Given the description of an element on the screen output the (x, y) to click on. 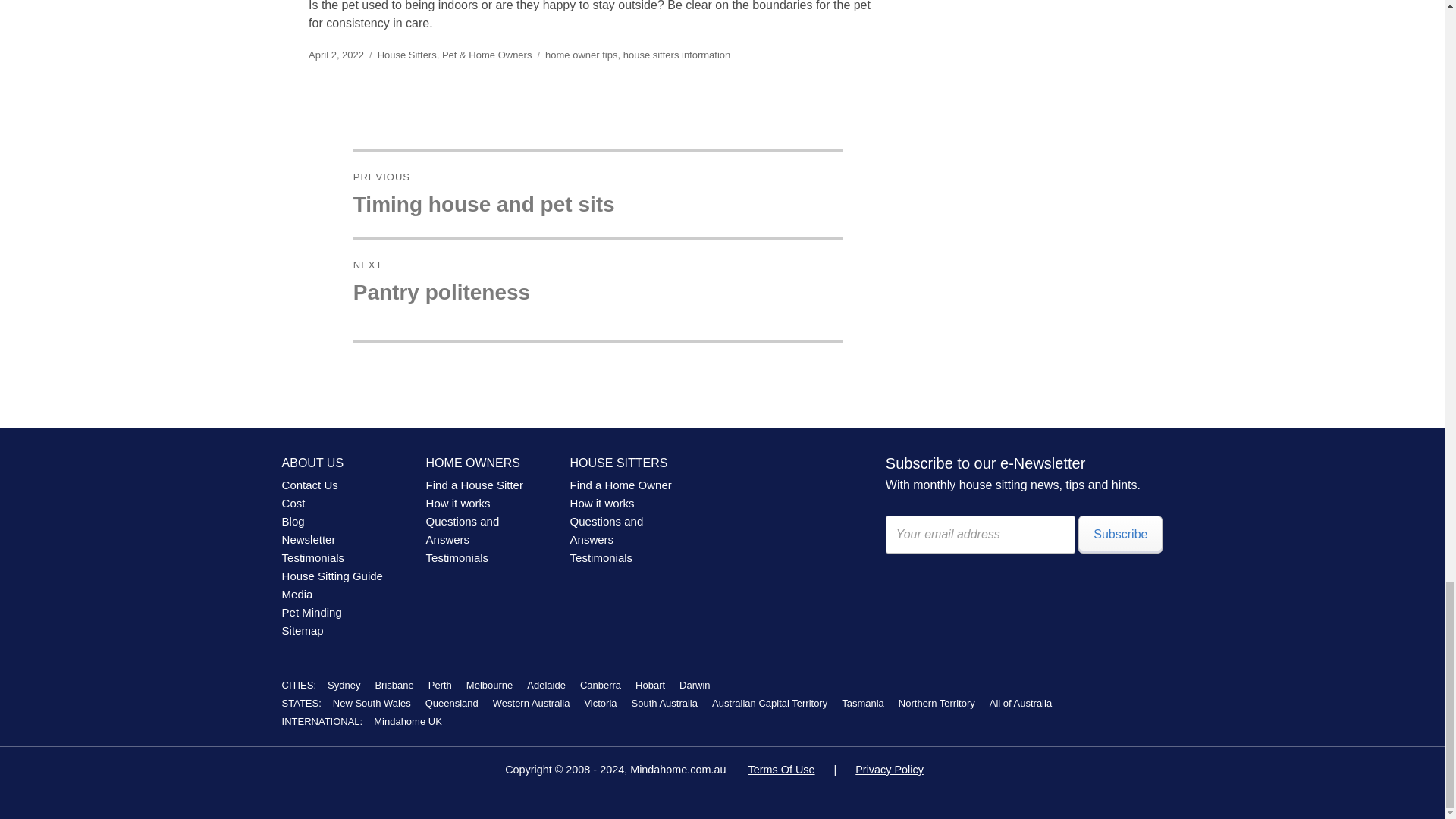
house sitters information (676, 54)
House Sitters (406, 54)
home owner tips (580, 54)
April 2, 2022 (598, 193)
